Given the description of an element on the screen output the (x, y) to click on. 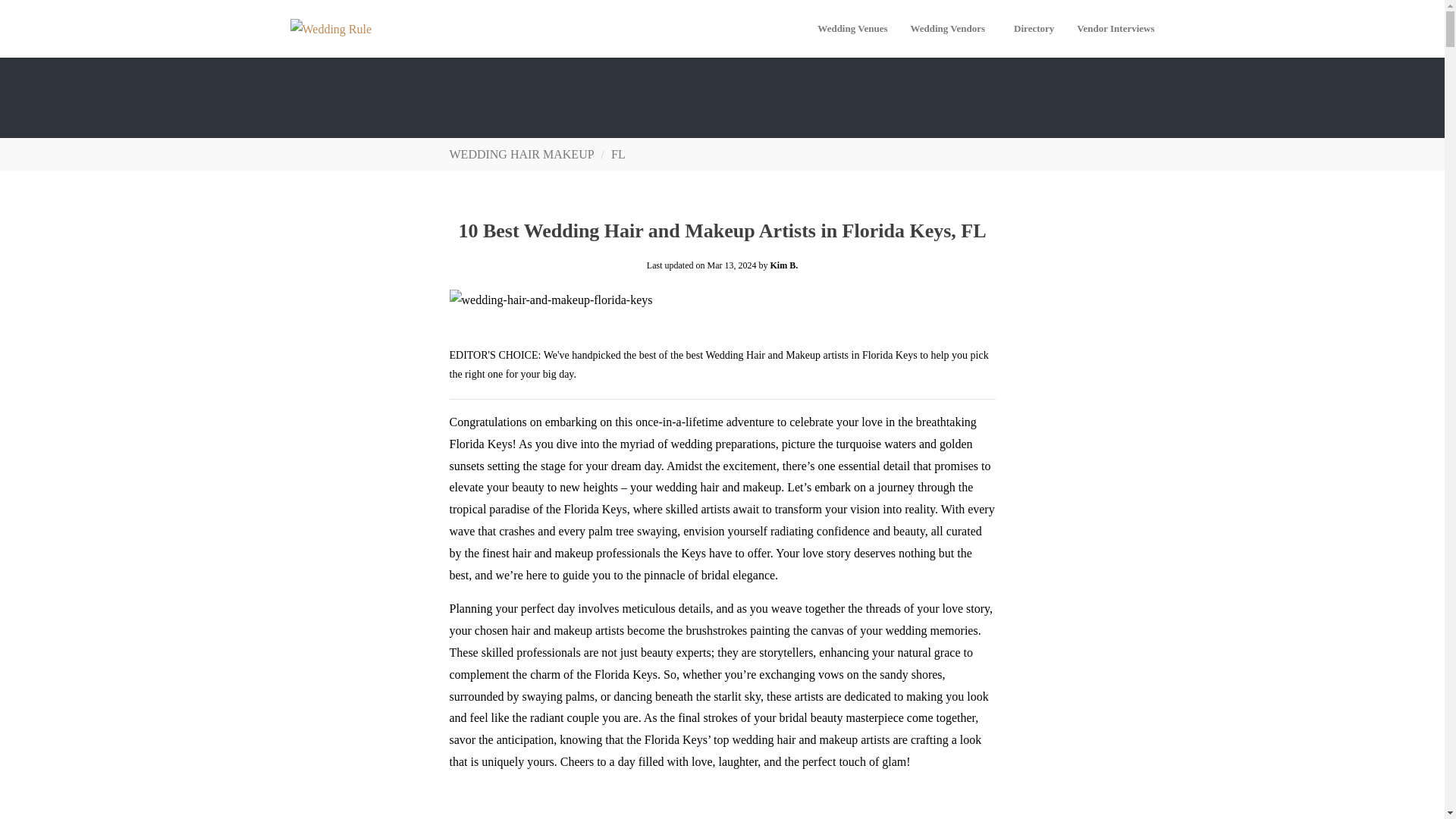
Vendor Interviews (1115, 28)
Wedding Vendors (950, 28)
FL (618, 154)
wedding-hair-and-makeup-florida-keys (550, 299)
Kim B. (783, 265)
WEDDING HAIR MAKEUP (521, 154)
Wedding Venues (851, 28)
